Given the description of an element on the screen output the (x, y) to click on. 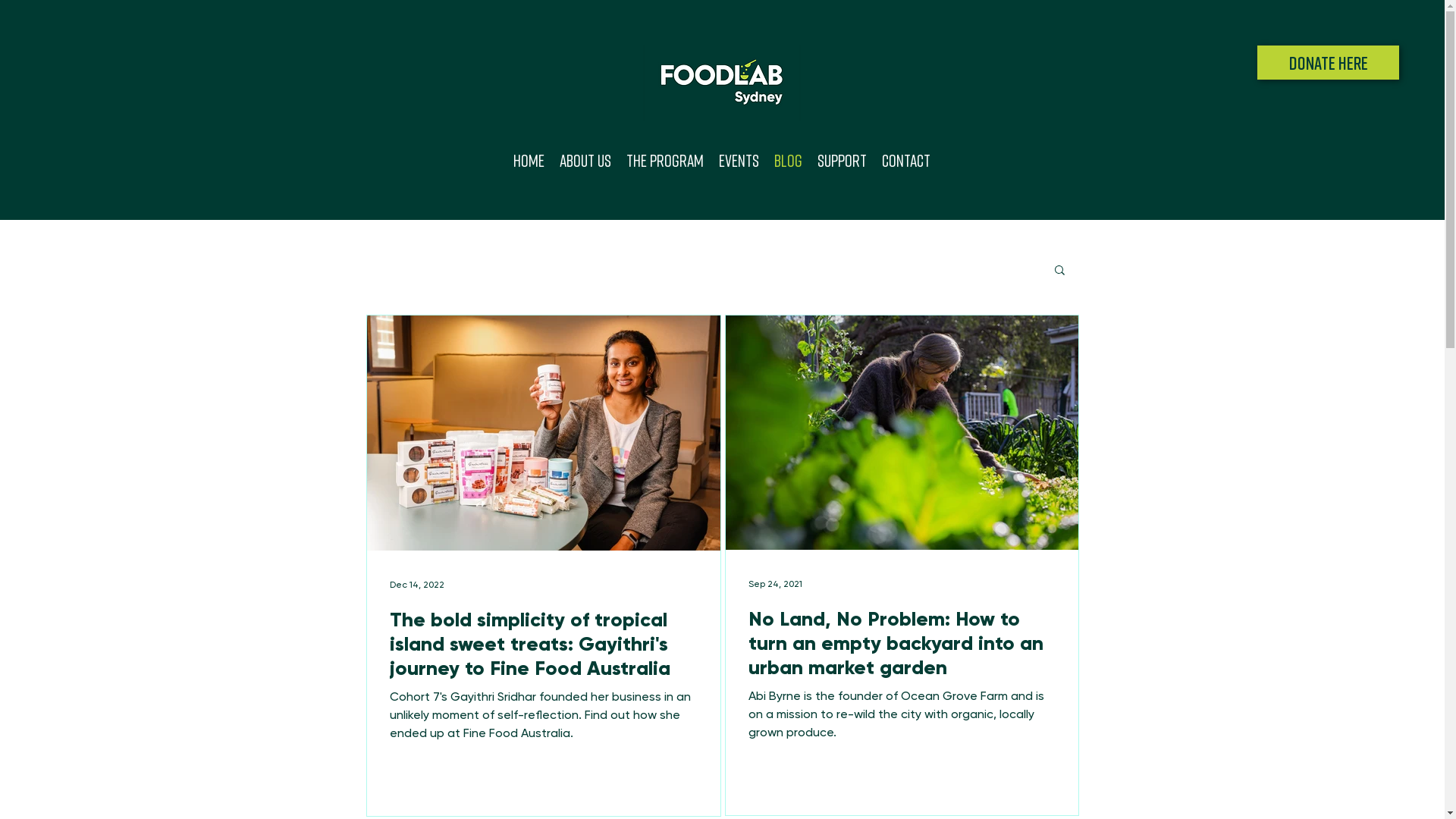
Blog Element type: text (787, 160)
About us Element type: text (585, 160)
Donate here Element type: text (1328, 62)
Contact Element type: text (906, 160)
Support Element type: text (841, 160)
The Program Element type: text (664, 160)
Events Element type: text (738, 160)
Home Element type: text (528, 160)
